Given the description of an element on the screen output the (x, y) to click on. 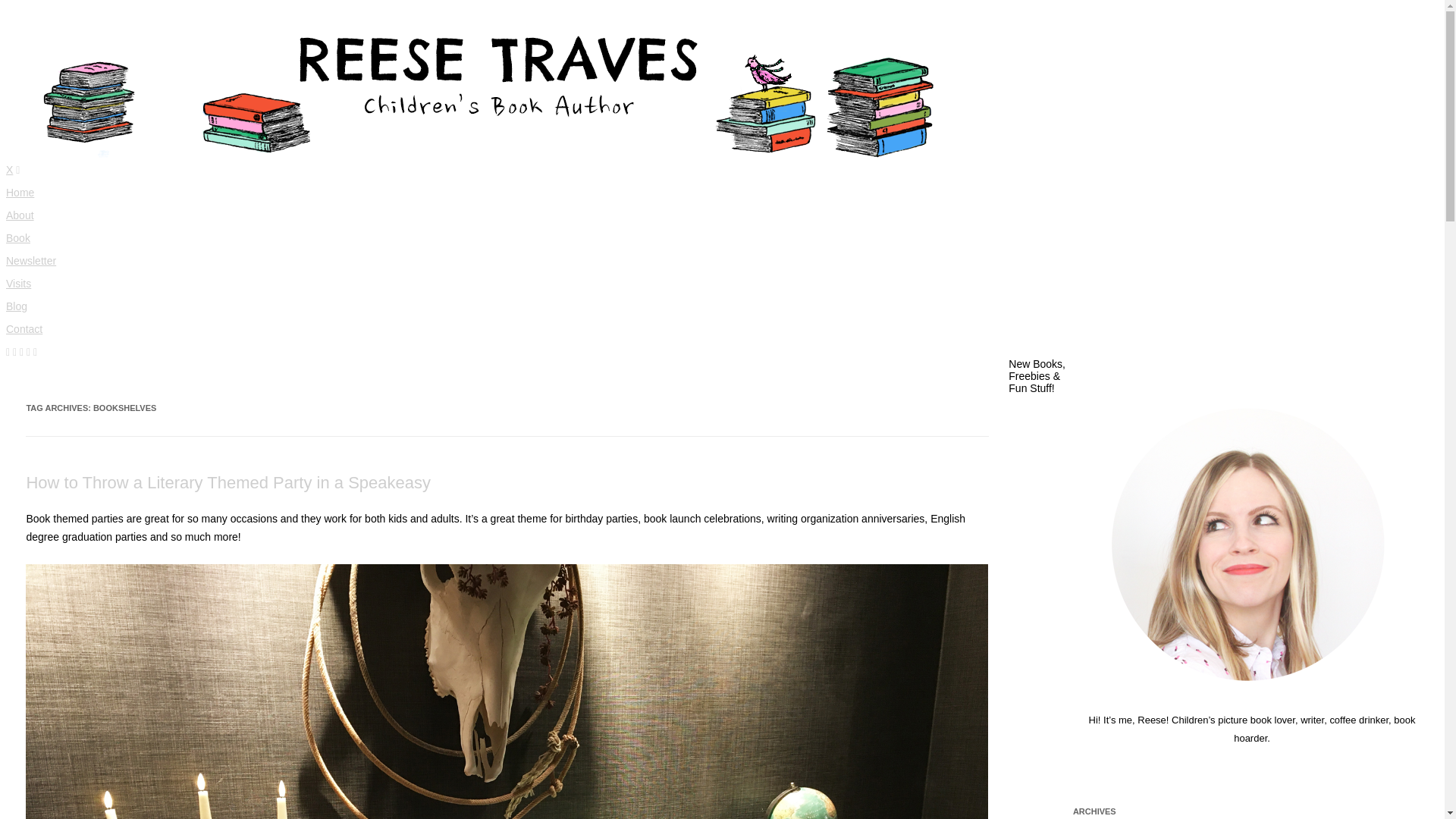
Contact (23, 328)
Book (17, 237)
About (19, 215)
Home (19, 192)
Blog (16, 306)
Newsletter (30, 260)
Visits (17, 283)
How to Throw a Literary Themed Party in a Speakeasy (228, 482)
